Given the description of an element on the screen output the (x, y) to click on. 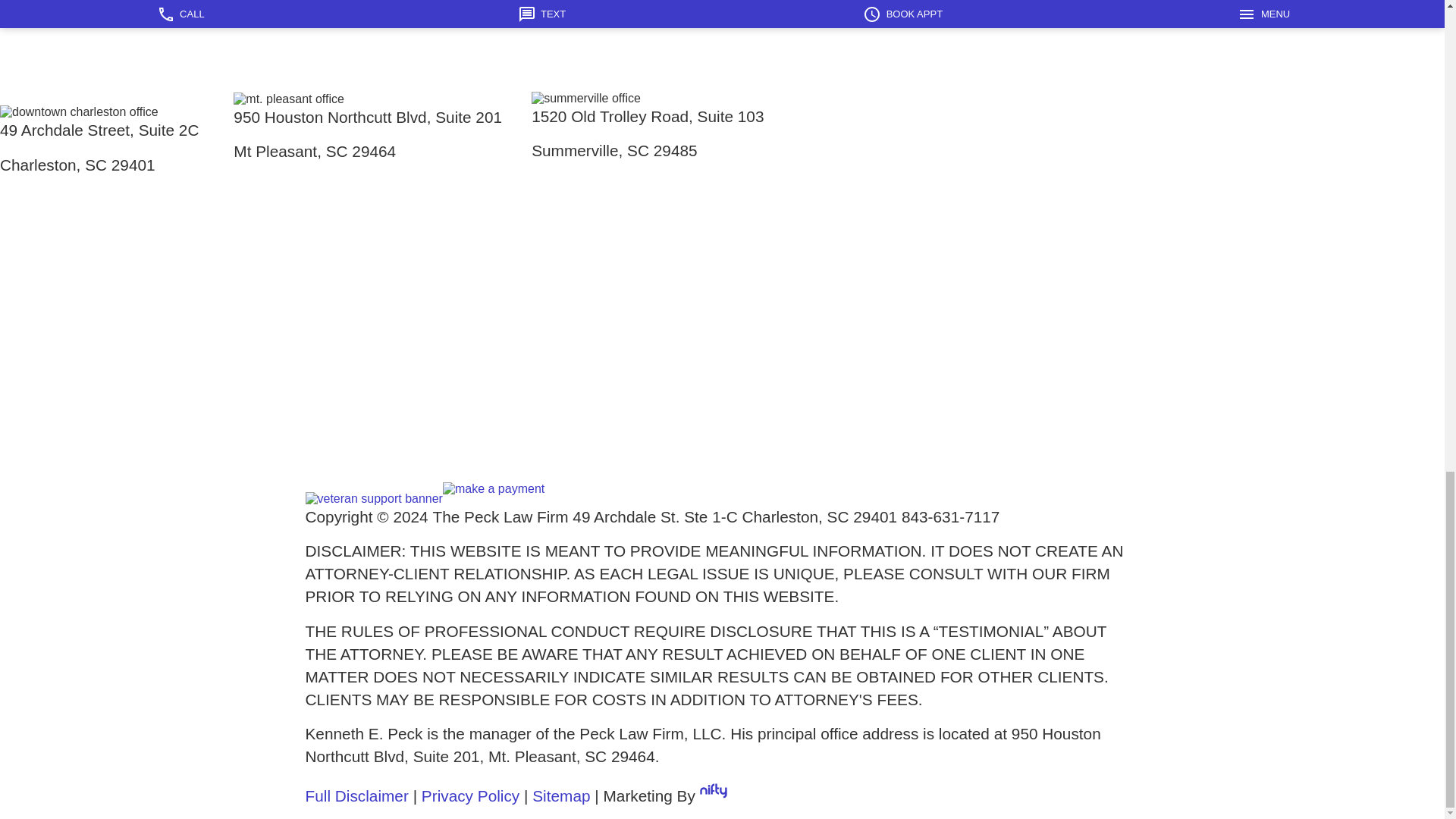
Sitemap (560, 795)
Privacy Policy (470, 795)
Google map of the Peck Law Firm in Summerville (658, 303)
Mount Pleasant Office (381, 2)
Full Disclaimer (355, 795)
Summerville Office (658, 2)
Google map of the Peck Law Firm in Charleston (116, 316)
Google map of the Peck Law Firm in Mt. Pleasant (381, 303)
